Given the description of an element on the screen output the (x, y) to click on. 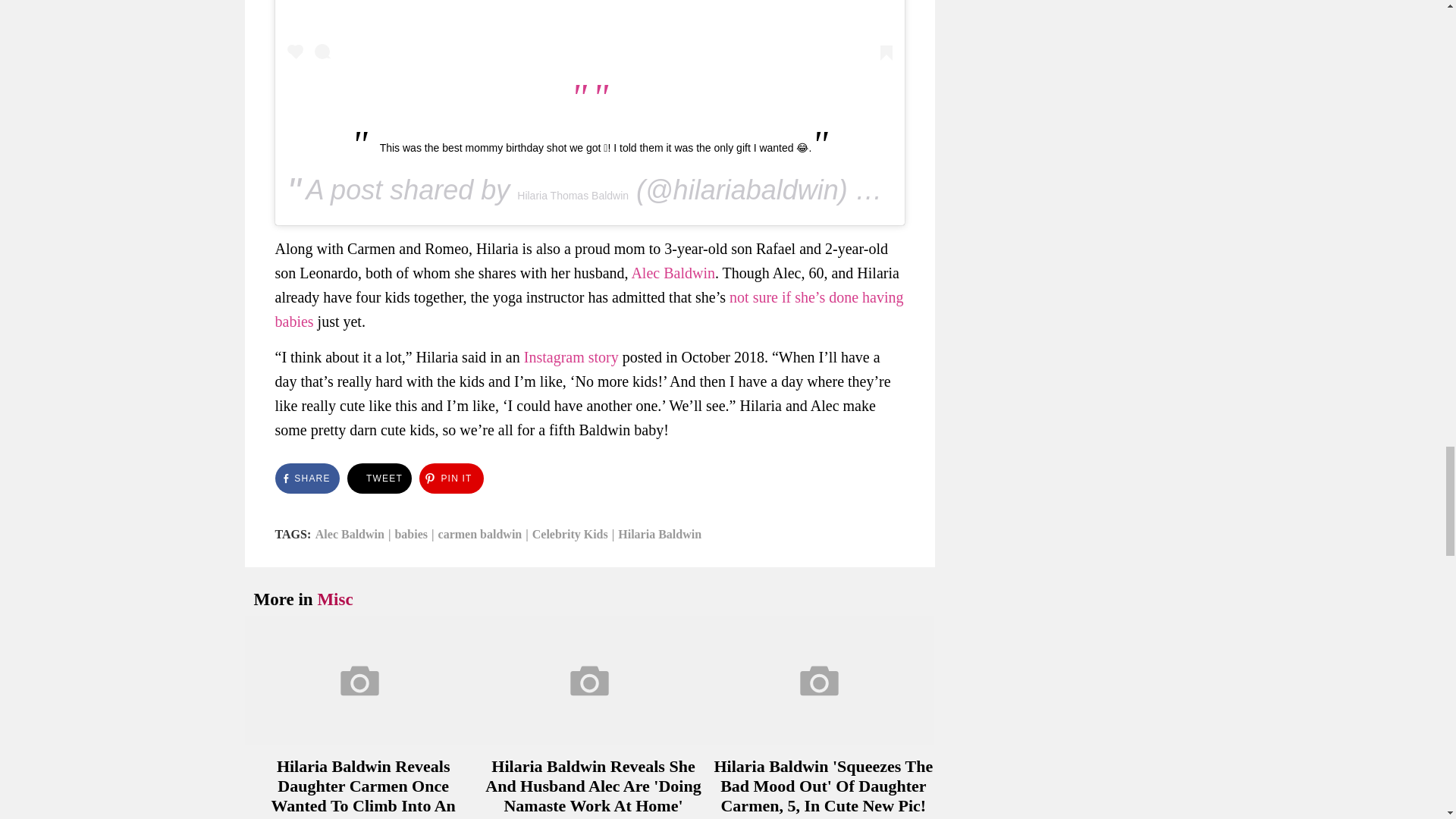
Click to share on Twitter (379, 478)
Click to share on Pinterest (451, 478)
Click to share on Facebook (307, 478)
